Given the description of an element on the screen output the (x, y) to click on. 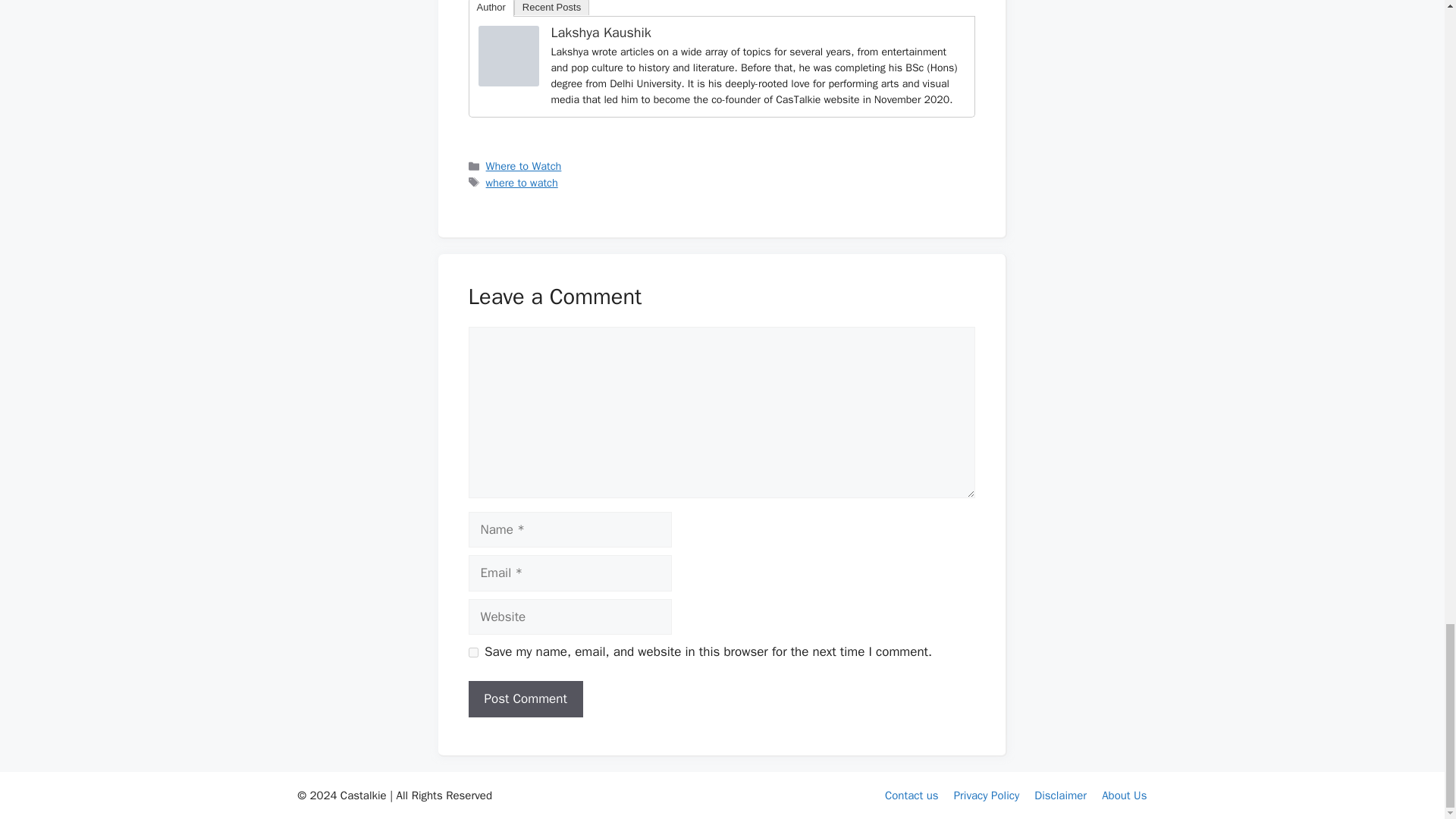
Author (490, 8)
yes (473, 652)
where to watch (521, 182)
Disclaimer (1059, 795)
About Us (1124, 795)
Recent Posts (551, 7)
Privacy Policy (986, 795)
Post Comment (525, 698)
Contact us (912, 795)
Is White Elephant on Netflix, Prime, or HBO MAX? (507, 55)
